Given the description of an element on the screen output the (x, y) to click on. 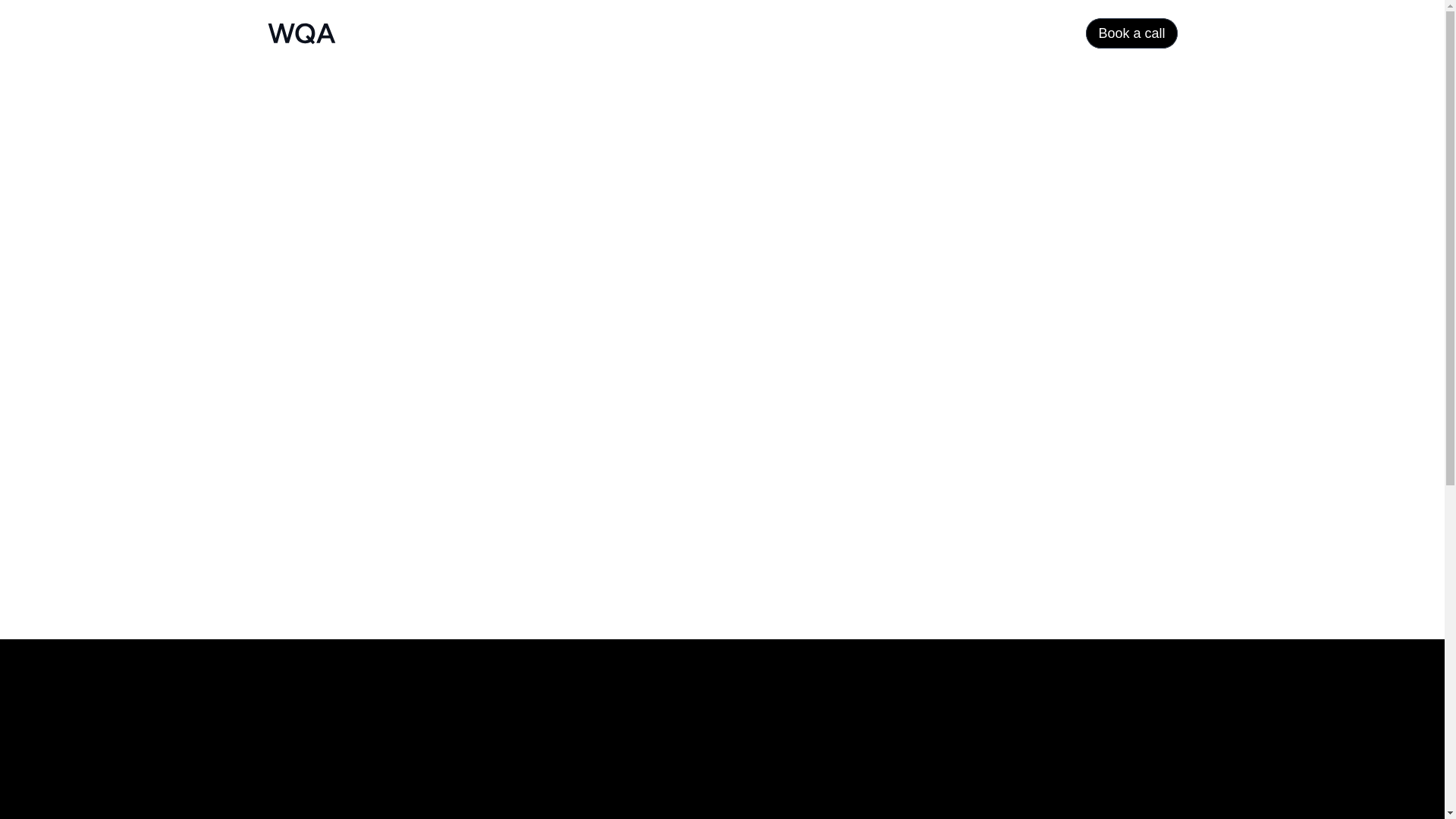
Helpdocs (922, 447)
Instagram (1097, 330)
Home (861, 329)
Join us (864, 386)
Book a call (1131, 33)
Let's talk (328, 563)
Contact (866, 357)
WQA App Login (922, 416)
